Given the description of an element on the screen output the (x, y) to click on. 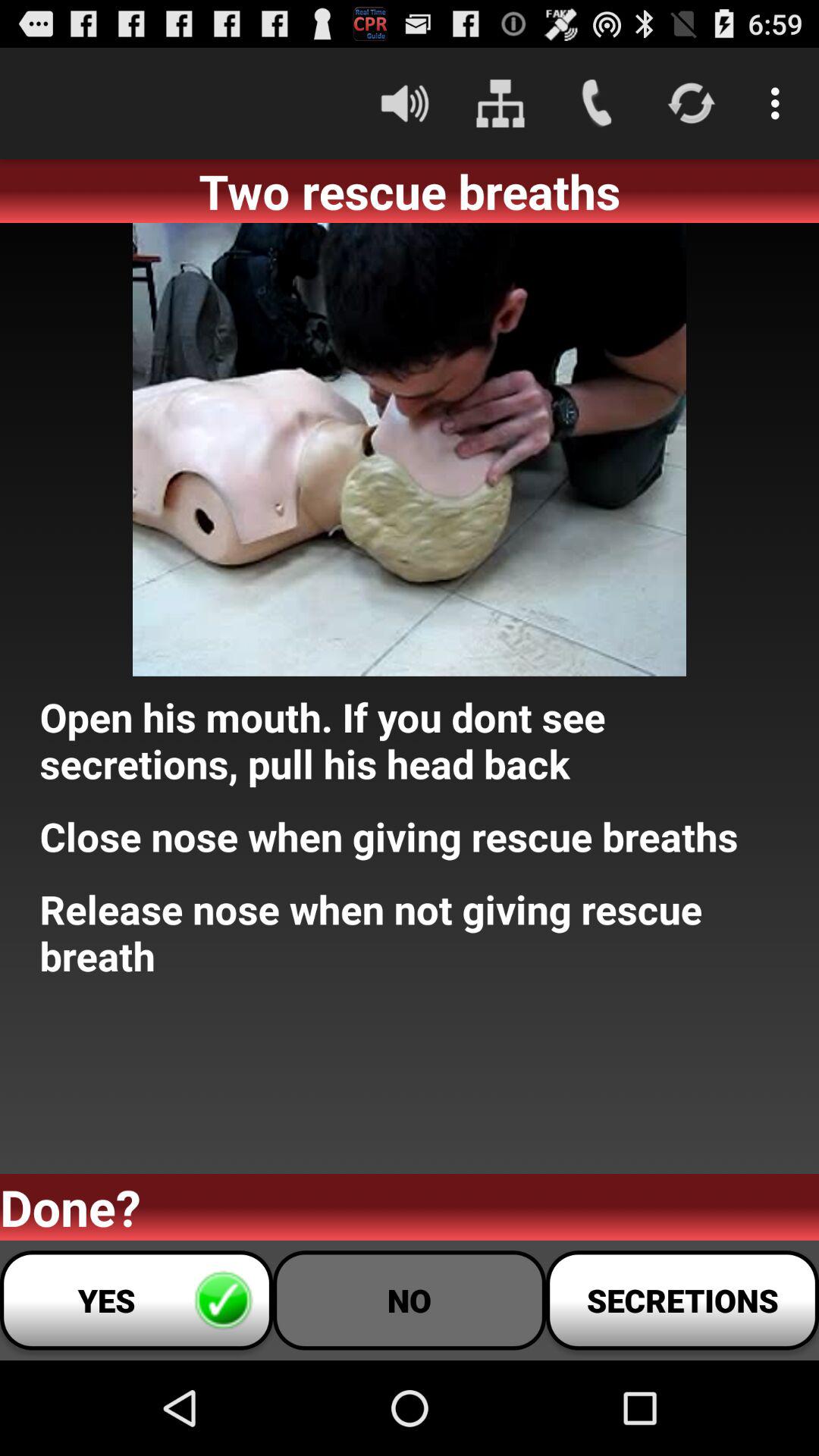
turn on the item to the right of yes button (409, 1300)
